Given the description of an element on the screen output the (x, y) to click on. 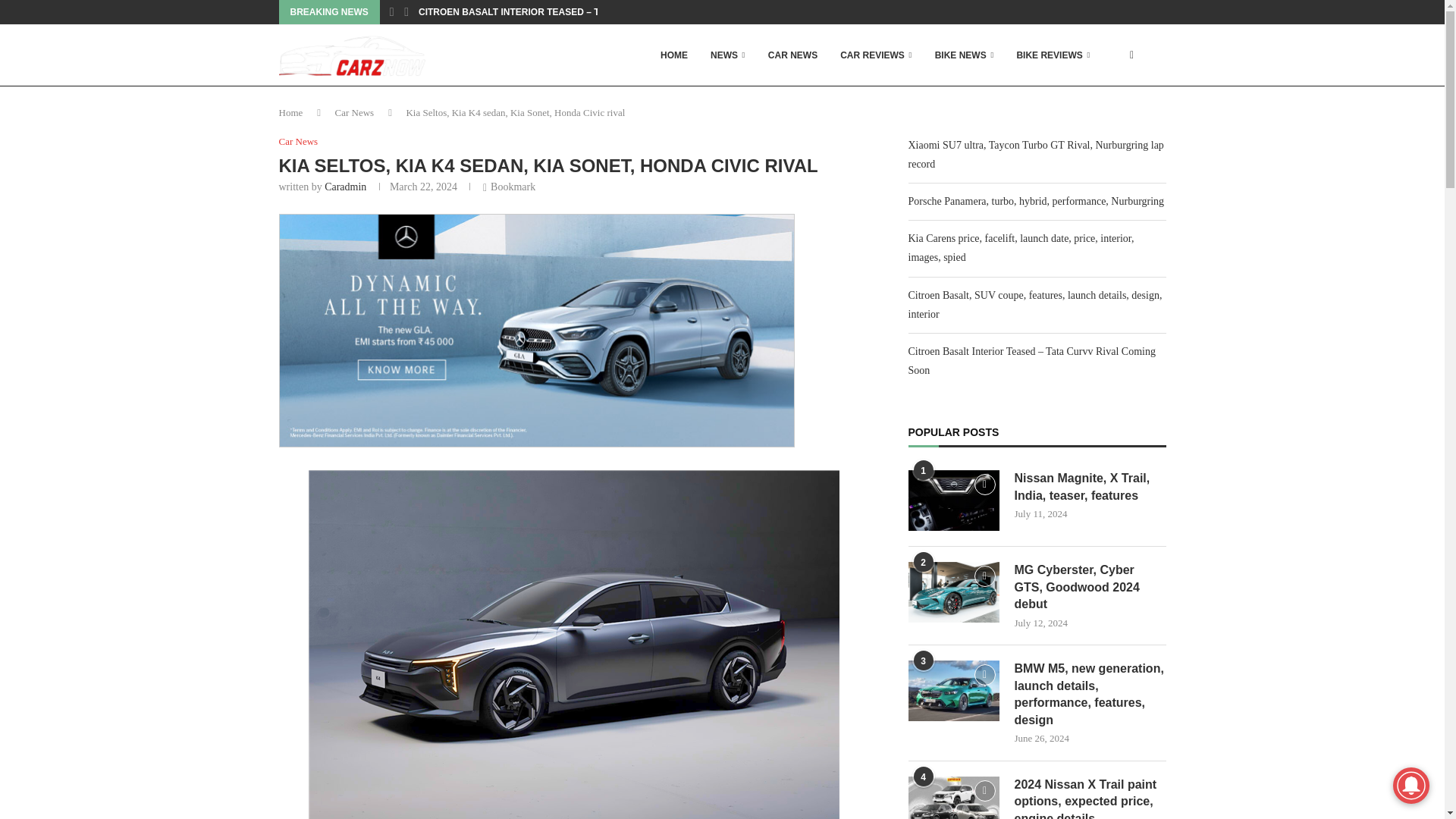
CAR REVIEWS (875, 55)
